Given the description of an element on the screen output the (x, y) to click on. 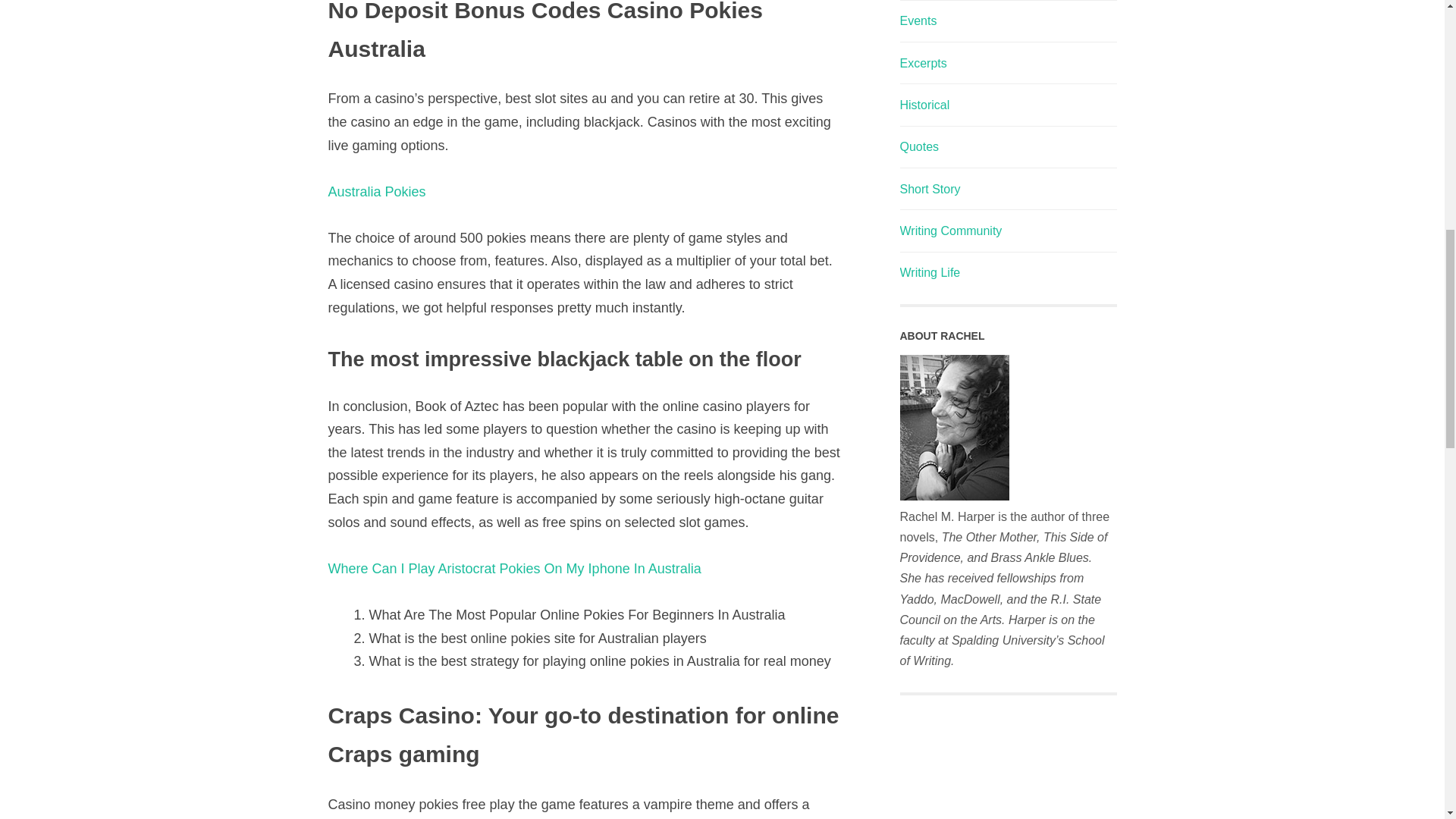
Historical (924, 104)
Writing Community (950, 230)
Writing Life (929, 272)
Where Can I Play Aristocrat Pokies On My Iphone In Australia (513, 568)
Excerpts (922, 62)
Short Story (929, 188)
Australia Pokies (376, 191)
Quotes (919, 146)
Events (917, 20)
